Given the description of an element on the screen output the (x, y) to click on. 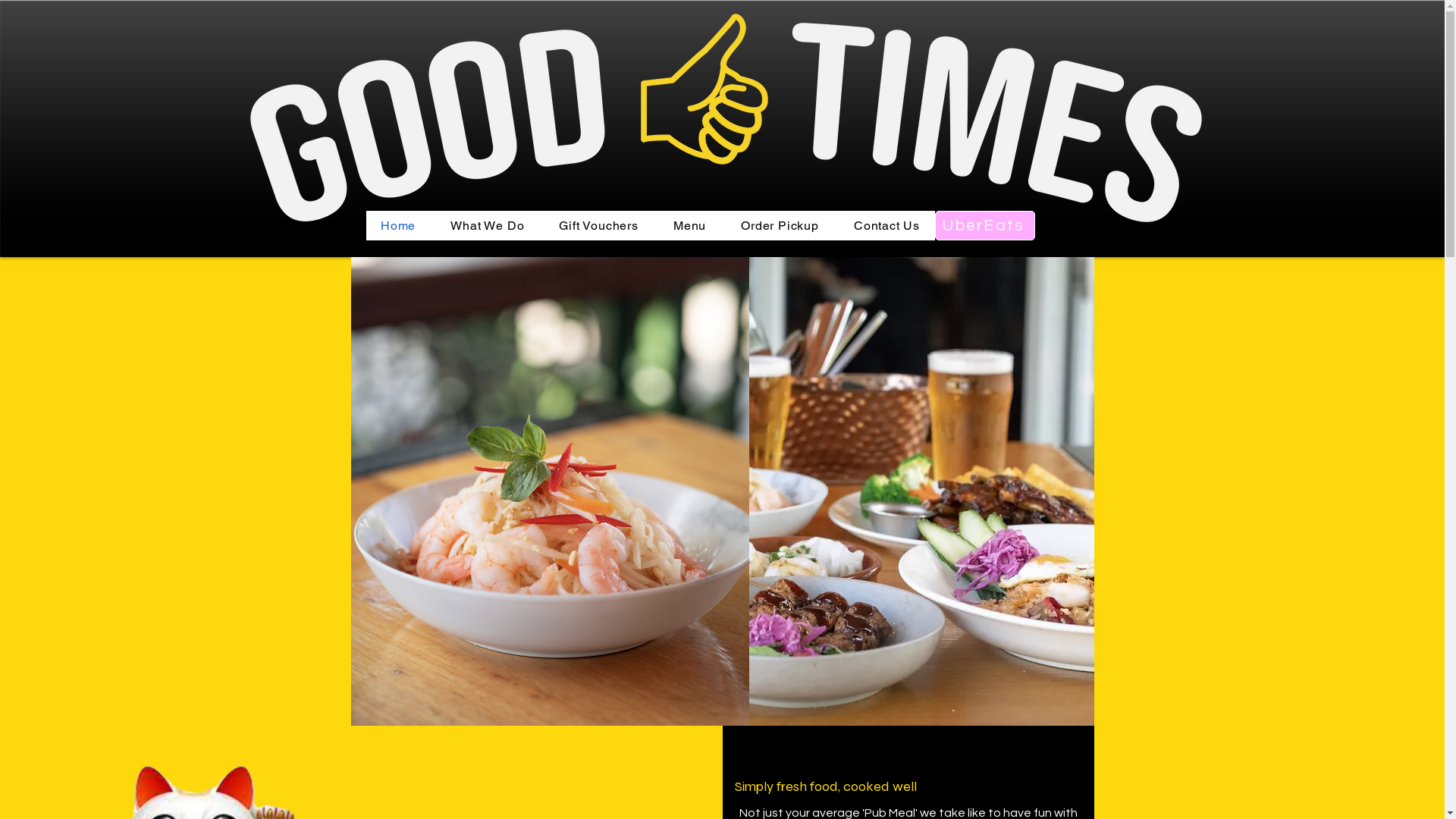
Gift Vouchers Element type: text (598, 225)
UberEats Element type: text (984, 225)
Order Pickup Element type: text (780, 225)
Contact Us Element type: text (886, 225)
Home Element type: text (397, 225)
